Given the description of an element on the screen output the (x, y) to click on. 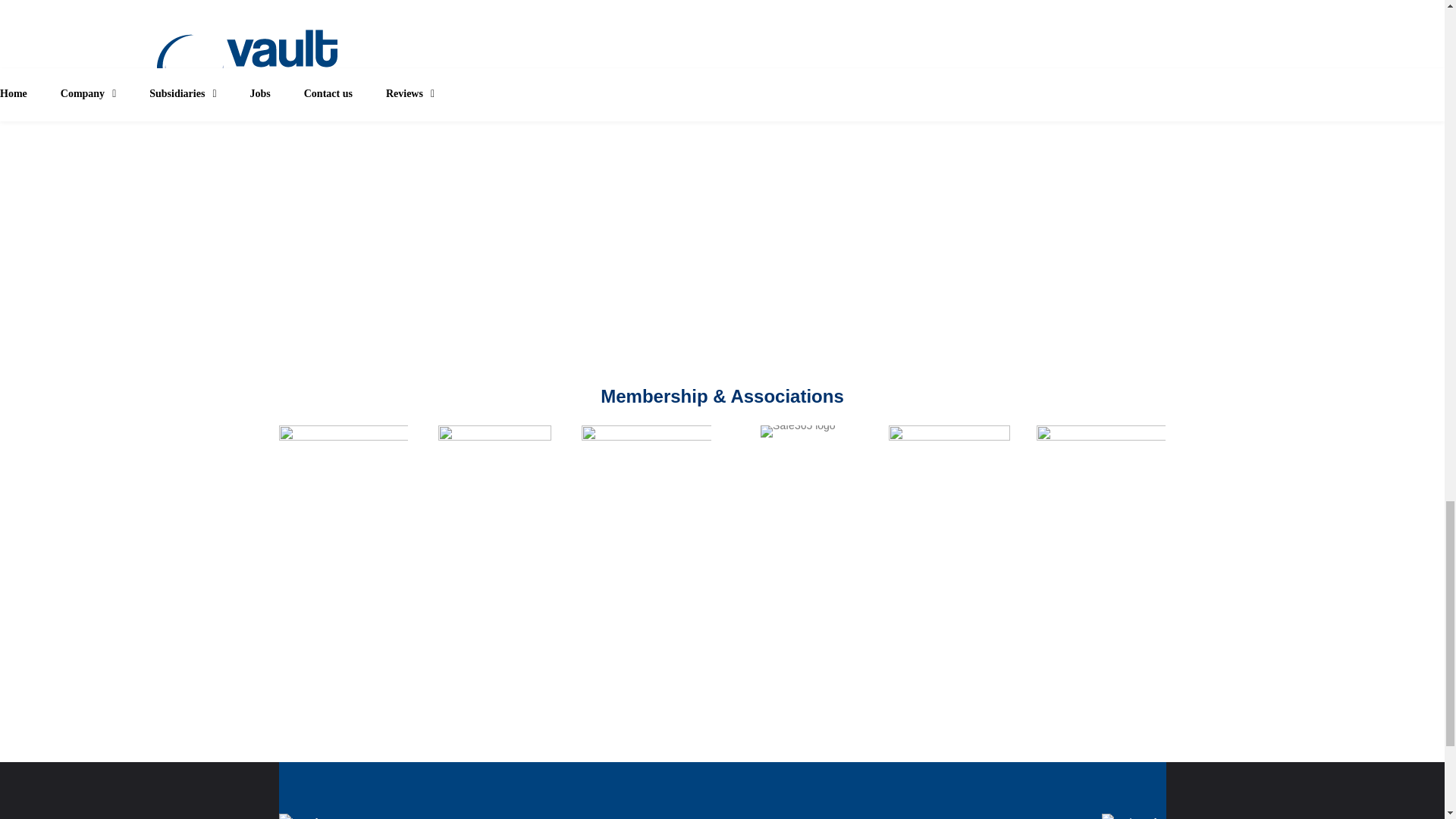
chamber (645, 446)
ministry (1101, 448)
emma (494, 442)
promed (949, 455)
SiteSafe (344, 443)
Safe365 logo (797, 431)
Submit (639, 291)
